Given the description of an element on the screen output the (x, y) to click on. 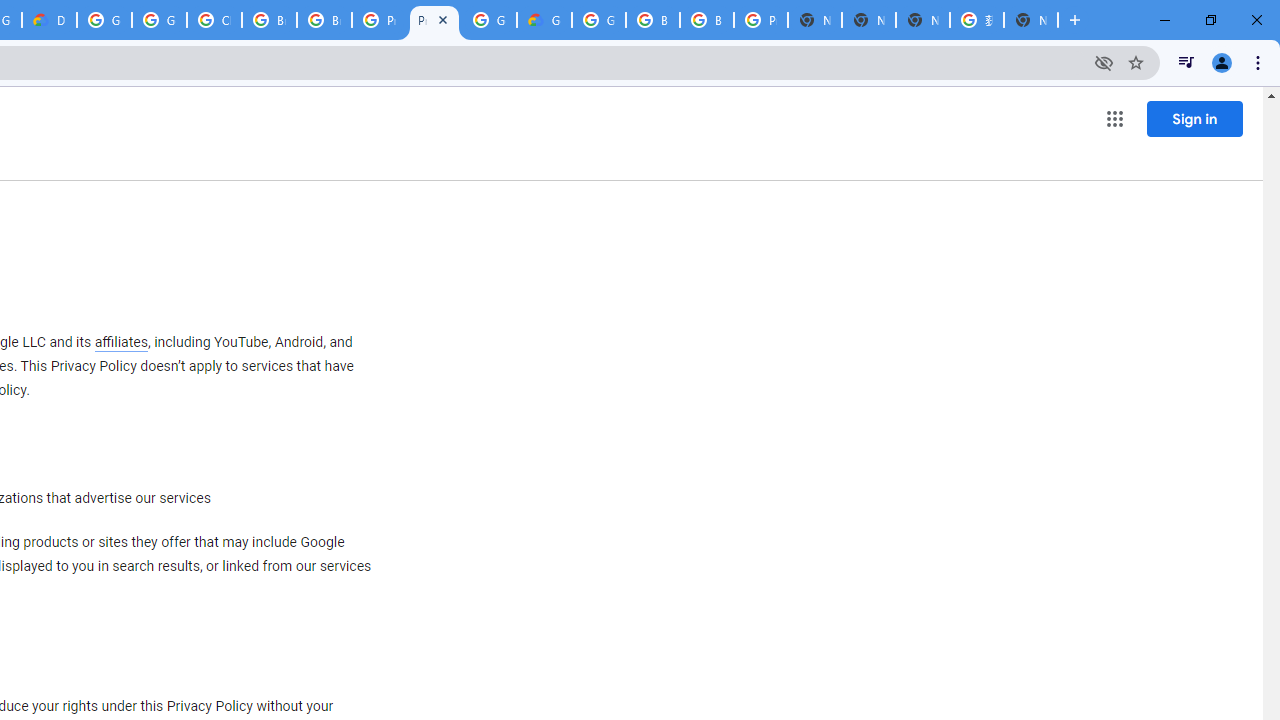
Google Cloud Estimate Summary (544, 20)
Browse Chrome as a guest - Computer - Google Chrome Help (652, 20)
New Tab (1030, 20)
New Tab (815, 20)
Google Cloud Platform (103, 20)
